Given the description of an element on the screen output the (x, y) to click on. 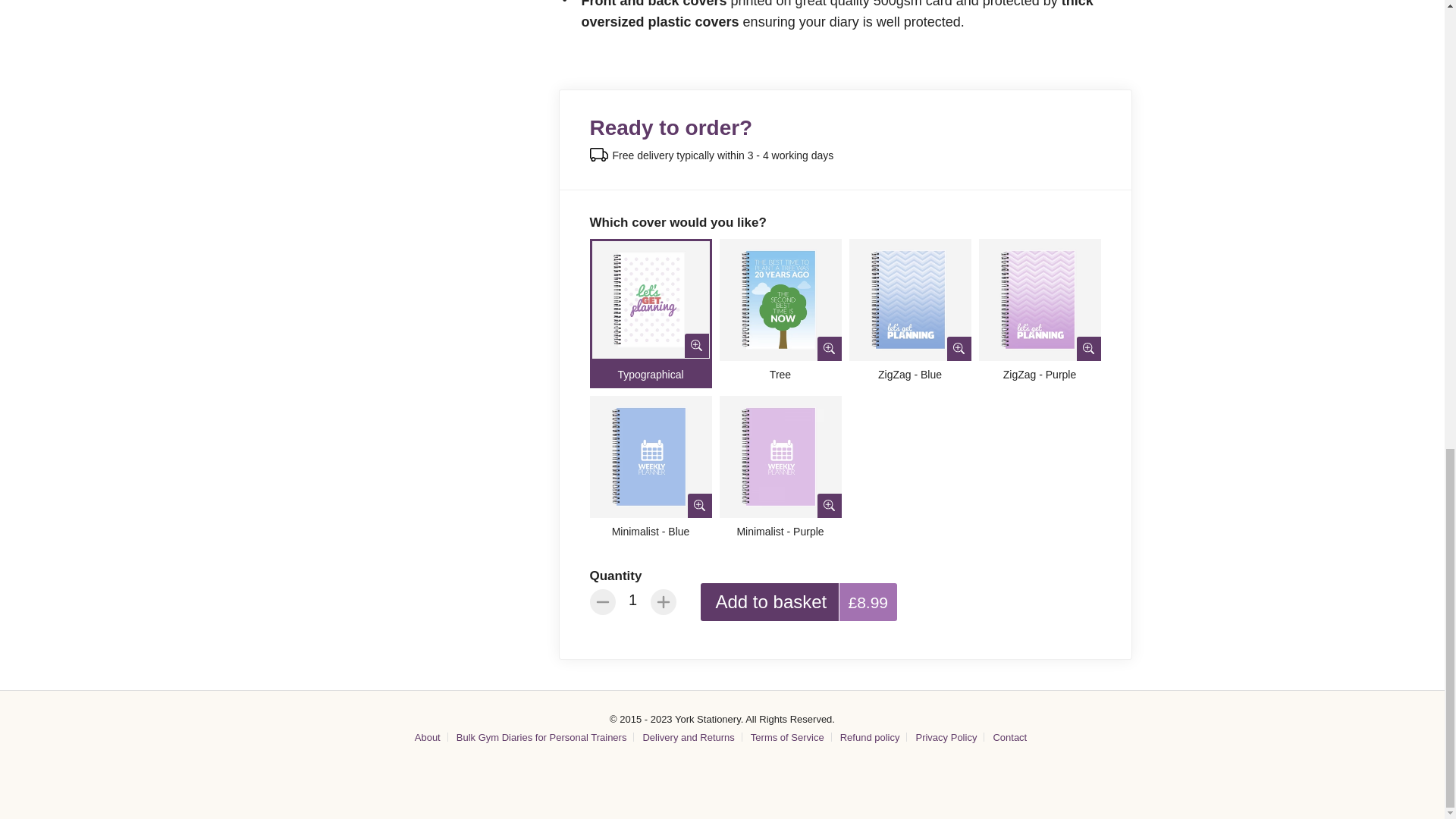
Add to basket (771, 601)
1 (632, 599)
